Given the description of an element on the screen output the (x, y) to click on. 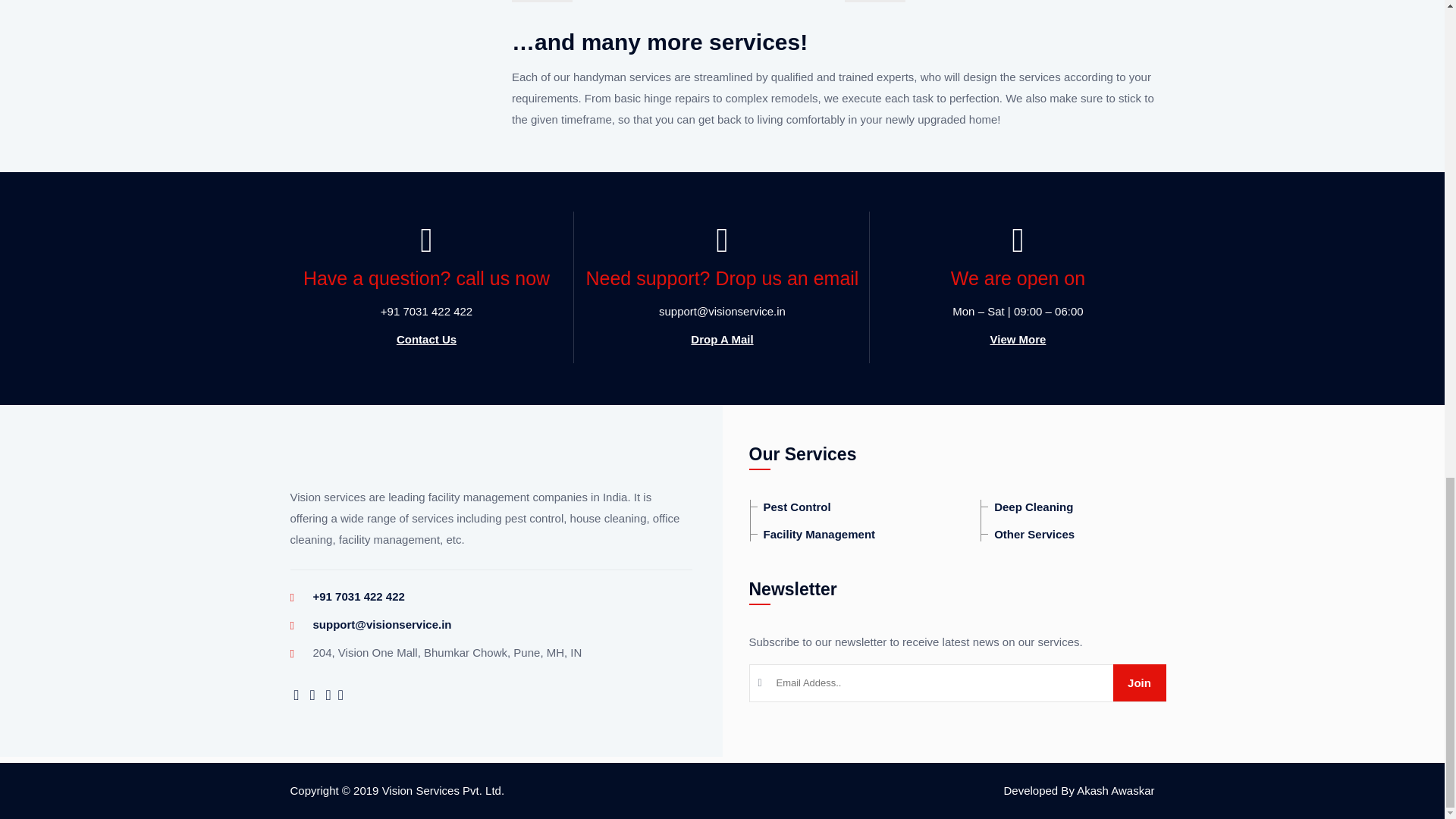
Pest Control (790, 506)
Vision Services Pvt. Ltd. (442, 789)
Join (1139, 682)
View More (1018, 339)
Facility Management (812, 533)
Akash Awaskar (1115, 789)
Other Services (1026, 533)
Deep Cleaning (1026, 506)
Contact Us (426, 339)
Send (1139, 682)
